Given the description of an element on the screen output the (x, y) to click on. 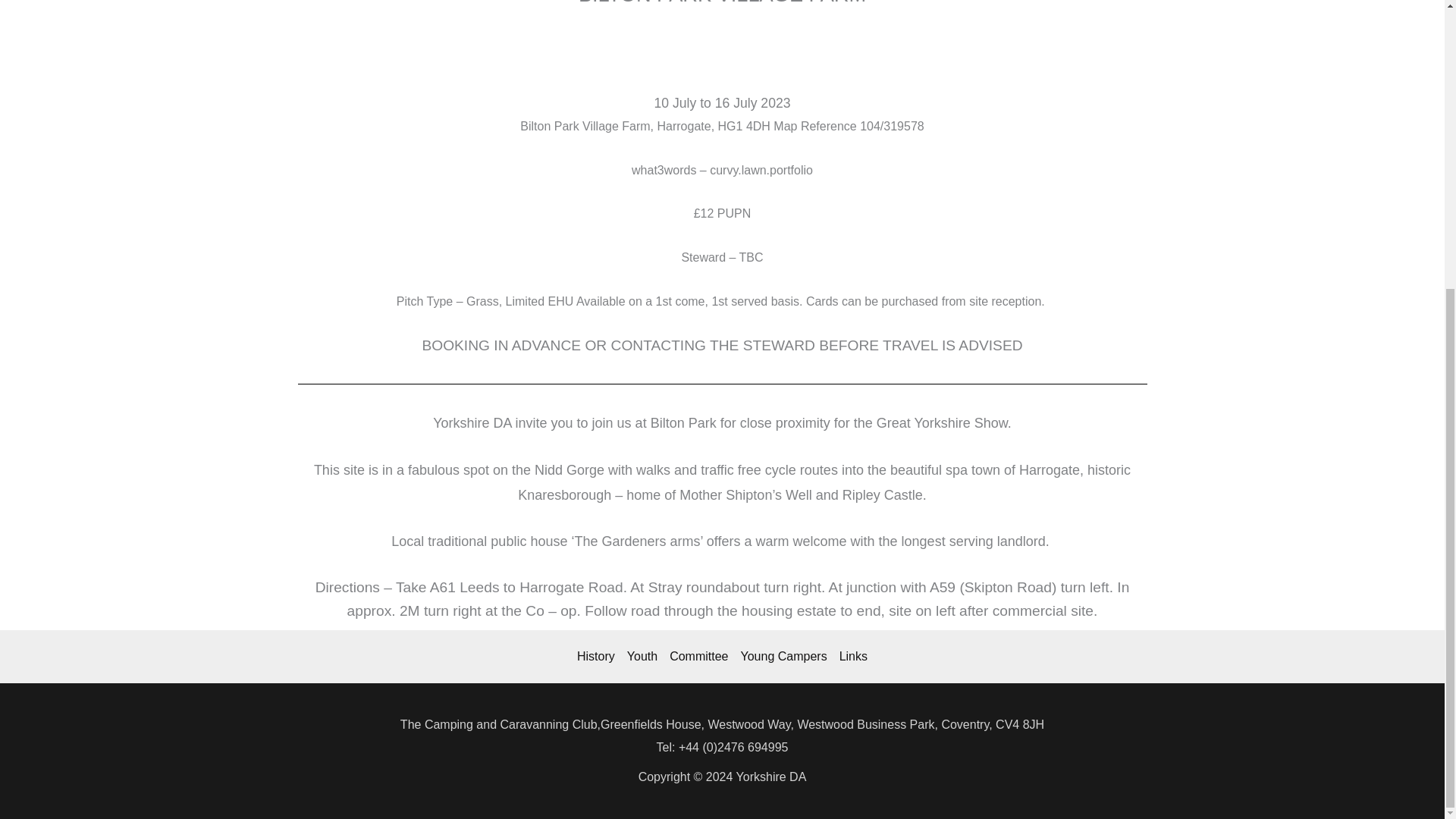
Young Campers (782, 656)
Committee (698, 656)
Links (849, 656)
History (598, 656)
Youth (642, 656)
